Given the description of an element on the screen output the (x, y) to click on. 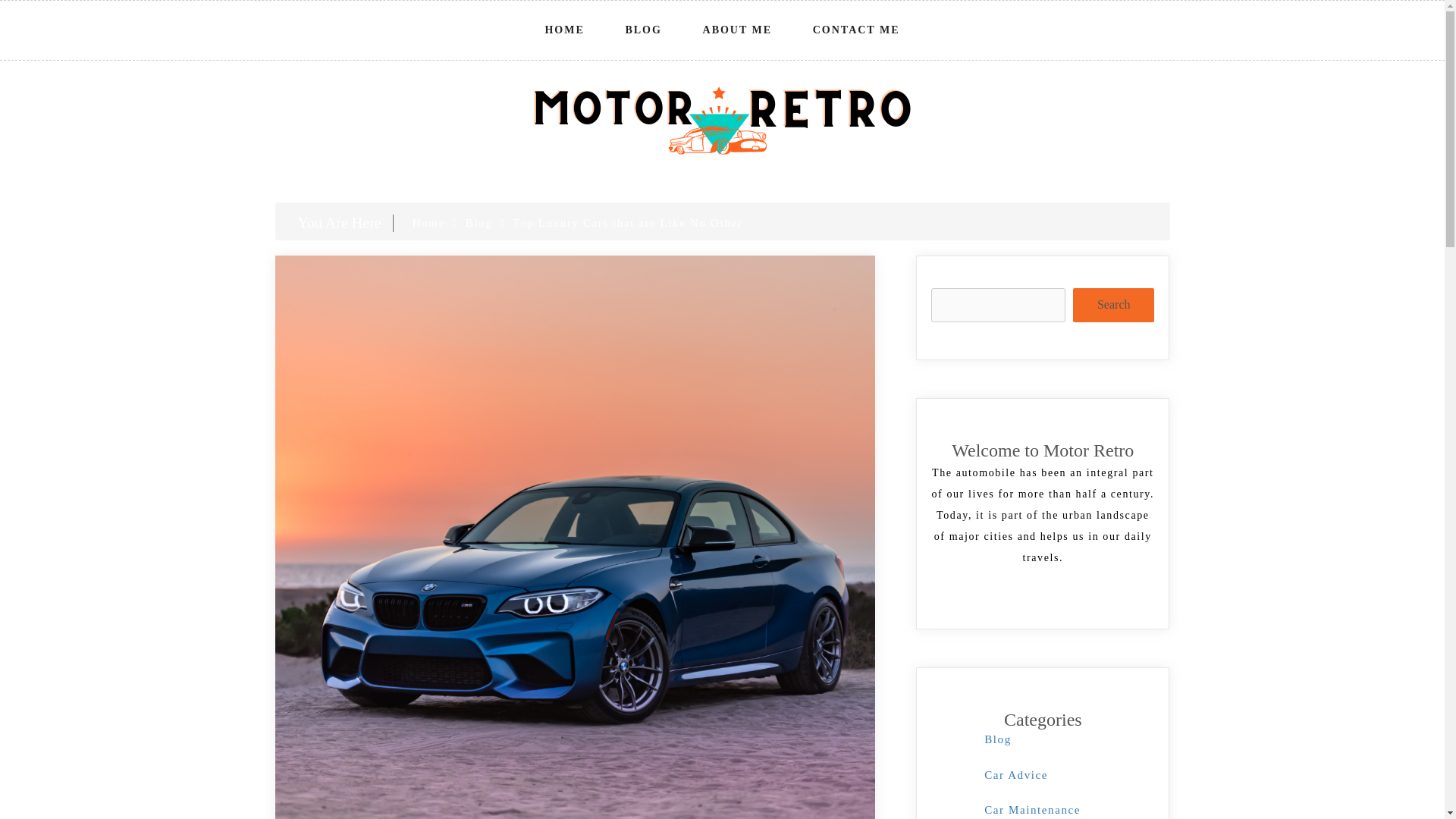
BLOG (643, 29)
CONTACT ME (856, 29)
Blog (479, 223)
HOME (563, 29)
ABOUT ME (737, 29)
Car Advice (1016, 775)
Blog (997, 739)
Car Maintenance (1032, 809)
Search (1113, 305)
Home (428, 223)
